Given the description of an element on the screen output the (x, y) to click on. 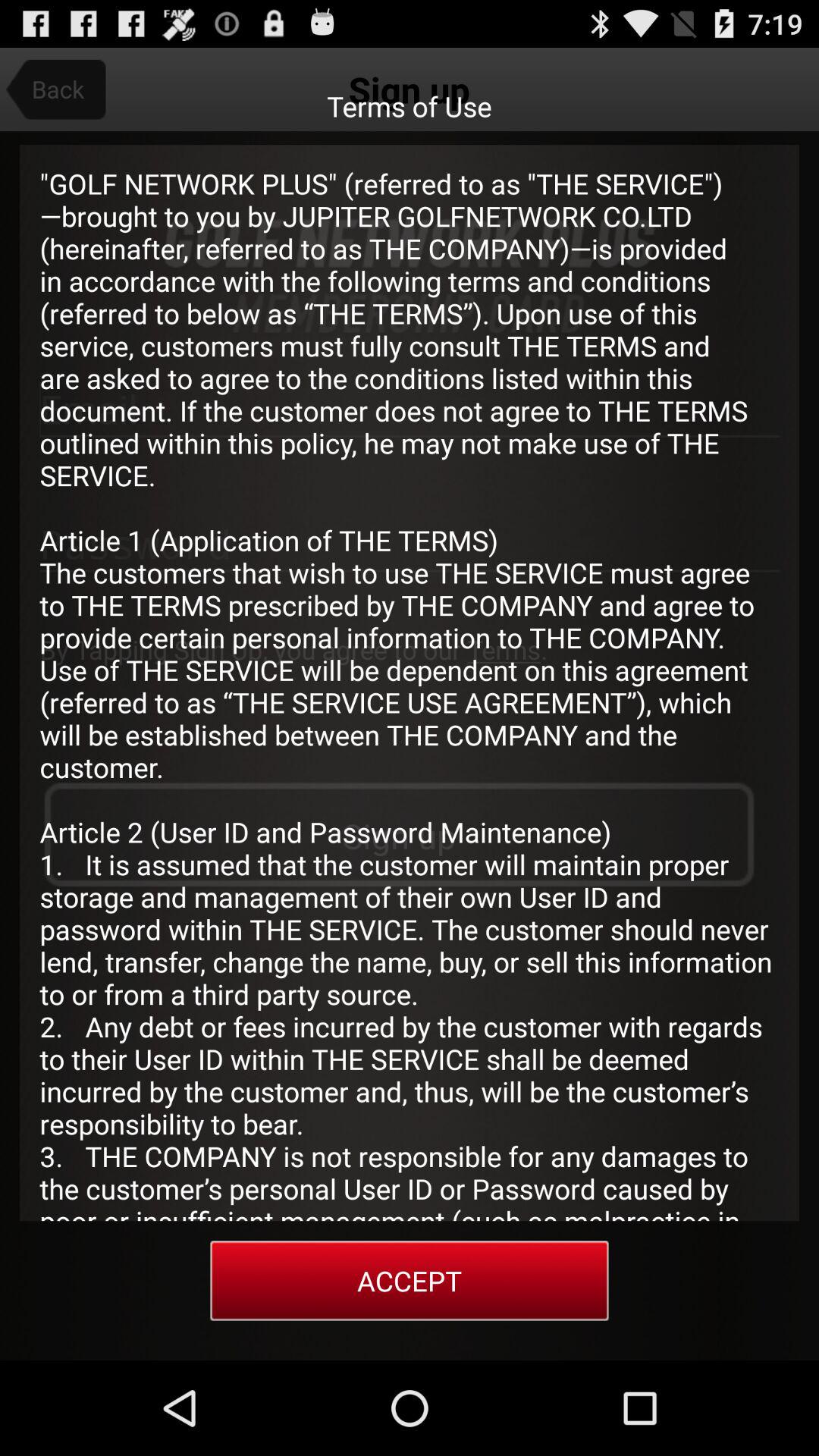
swipe to the accept item (409, 1280)
